Given the description of an element on the screen output the (x, y) to click on. 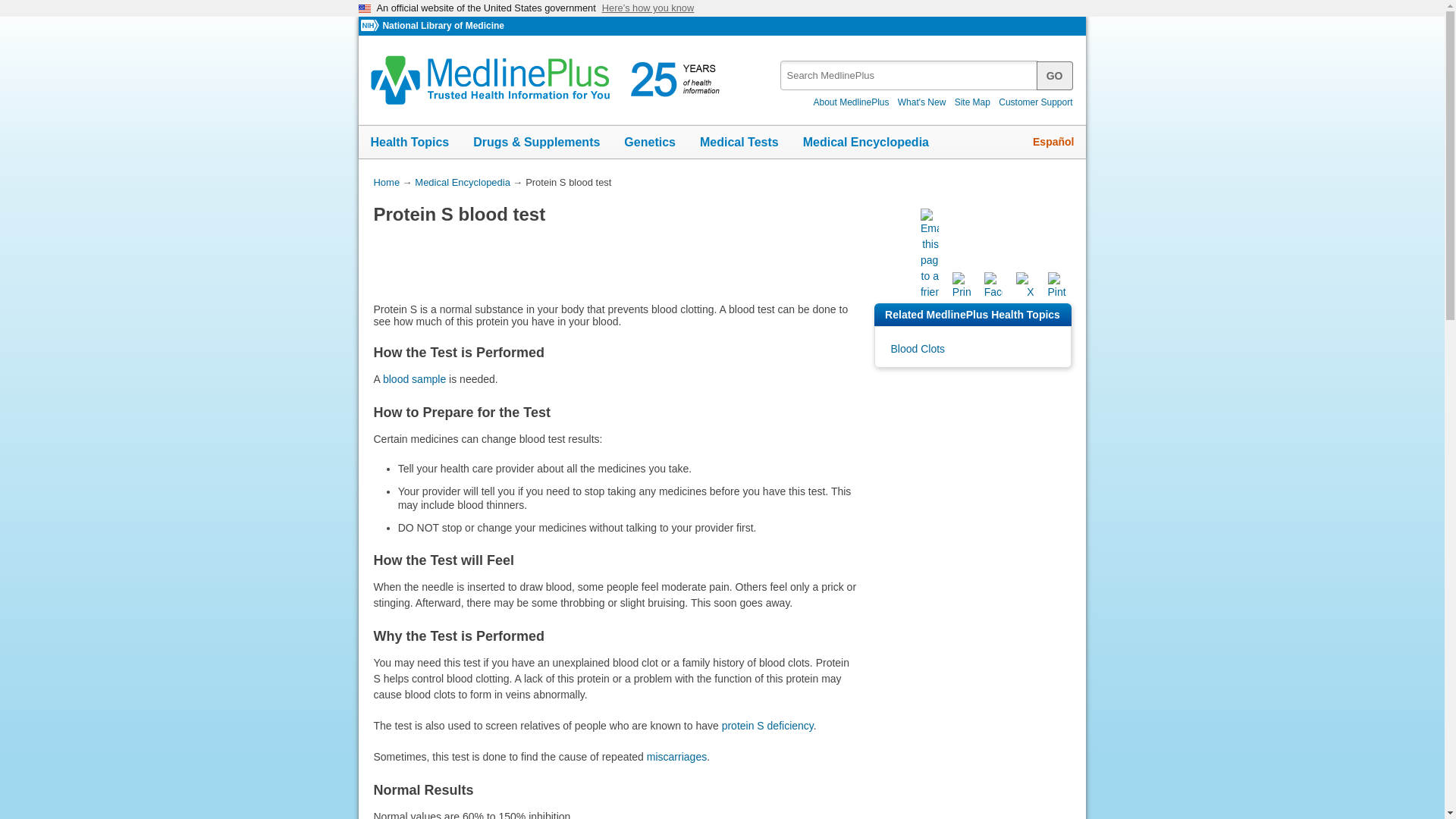
About MedlinePlus (851, 102)
Site Map (972, 102)
What's New (922, 102)
Search MedlinePlus (921, 69)
miscarriages (676, 756)
Medical Encyclopedia (462, 182)
Health Topics (409, 142)
protein S deficiency (767, 725)
Home (385, 182)
Genetics (649, 142)
